Given the description of an element on the screen output the (x, y) to click on. 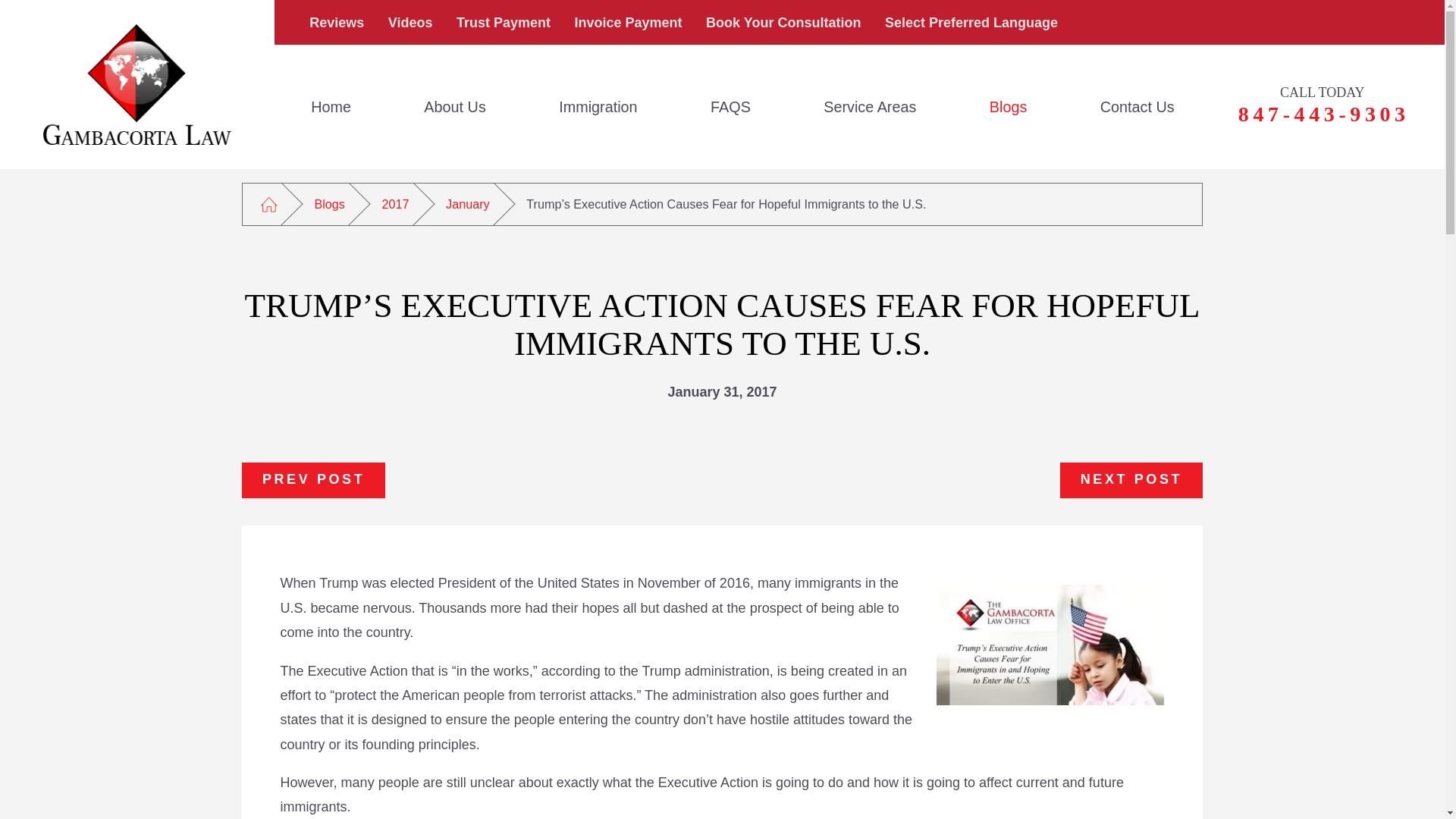
Immigration (598, 106)
Book Your Consultation (783, 22)
Blogs (1008, 106)
Gambacorta Law (137, 84)
About Us (454, 106)
FAQS (730, 106)
Service Areas (870, 106)
Invoice Payment (628, 22)
Reviews (336, 22)
Trust Payment (503, 22)
